Given the description of an element on the screen output the (x, y) to click on. 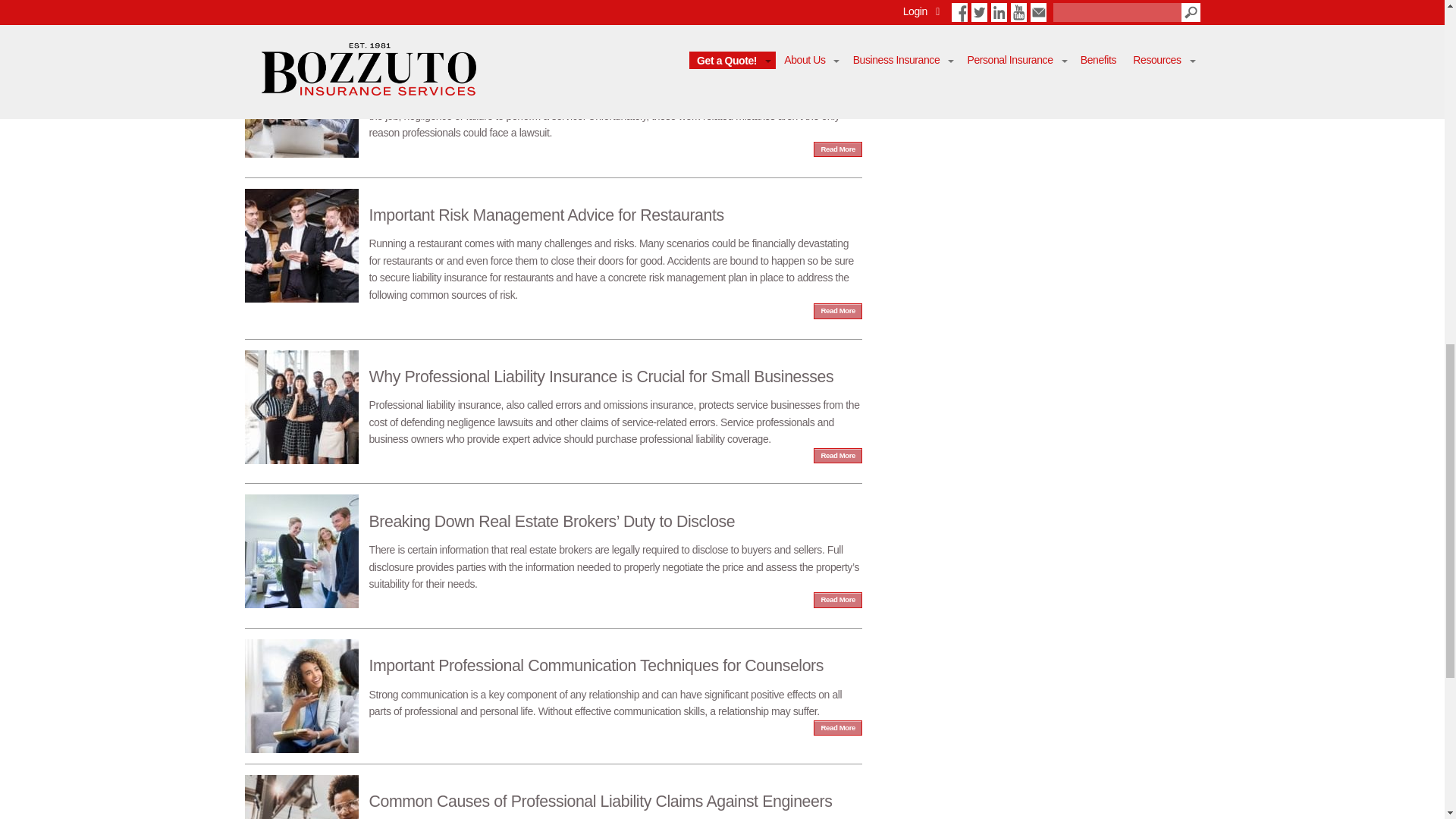
Read the full article... (552, 679)
Read the full article... (552, 796)
Read the full article... (552, 92)
Read the full article... (552, 398)
Read the full article... (552, 543)
Read the full article... (552, 245)
